Given the description of an element on the screen output the (x, y) to click on. 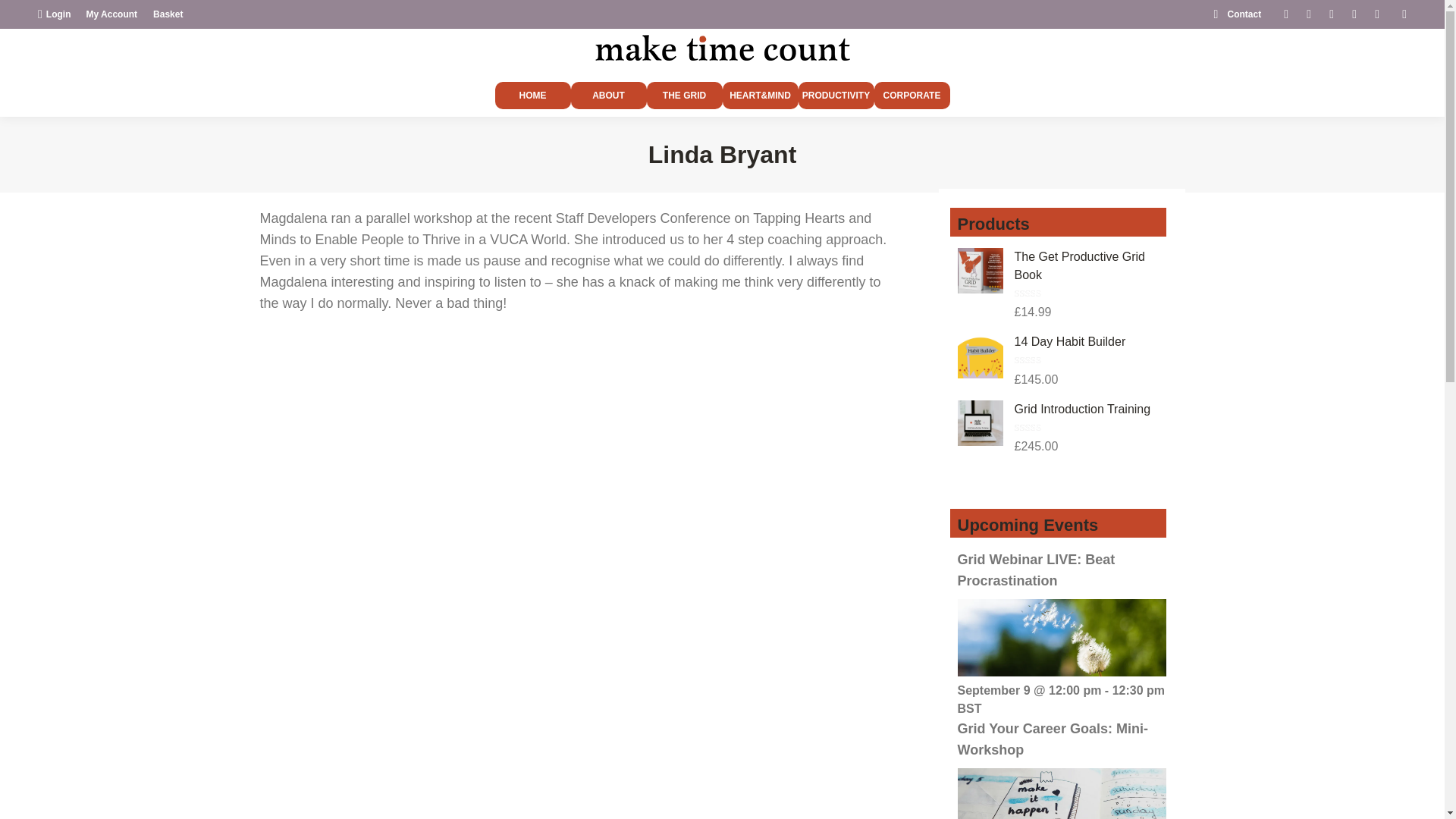
Contact (1235, 14)
My Account (111, 14)
Linkedin page opens in new window (1331, 14)
Login (54, 14)
THE GRID (684, 94)
ABOUT (608, 94)
Basket (167, 14)
X page opens in new window (1308, 14)
HOME (532, 94)
X page opens in new window (1308, 14)
Instagram page opens in new window (1377, 14)
YouTube page opens in new window (1353, 14)
Linkedin page opens in new window (1331, 14)
Instagram page opens in new window (1377, 14)
Facebook page opens in new window (1285, 14)
